Given the description of an element on the screen output the (x, y) to click on. 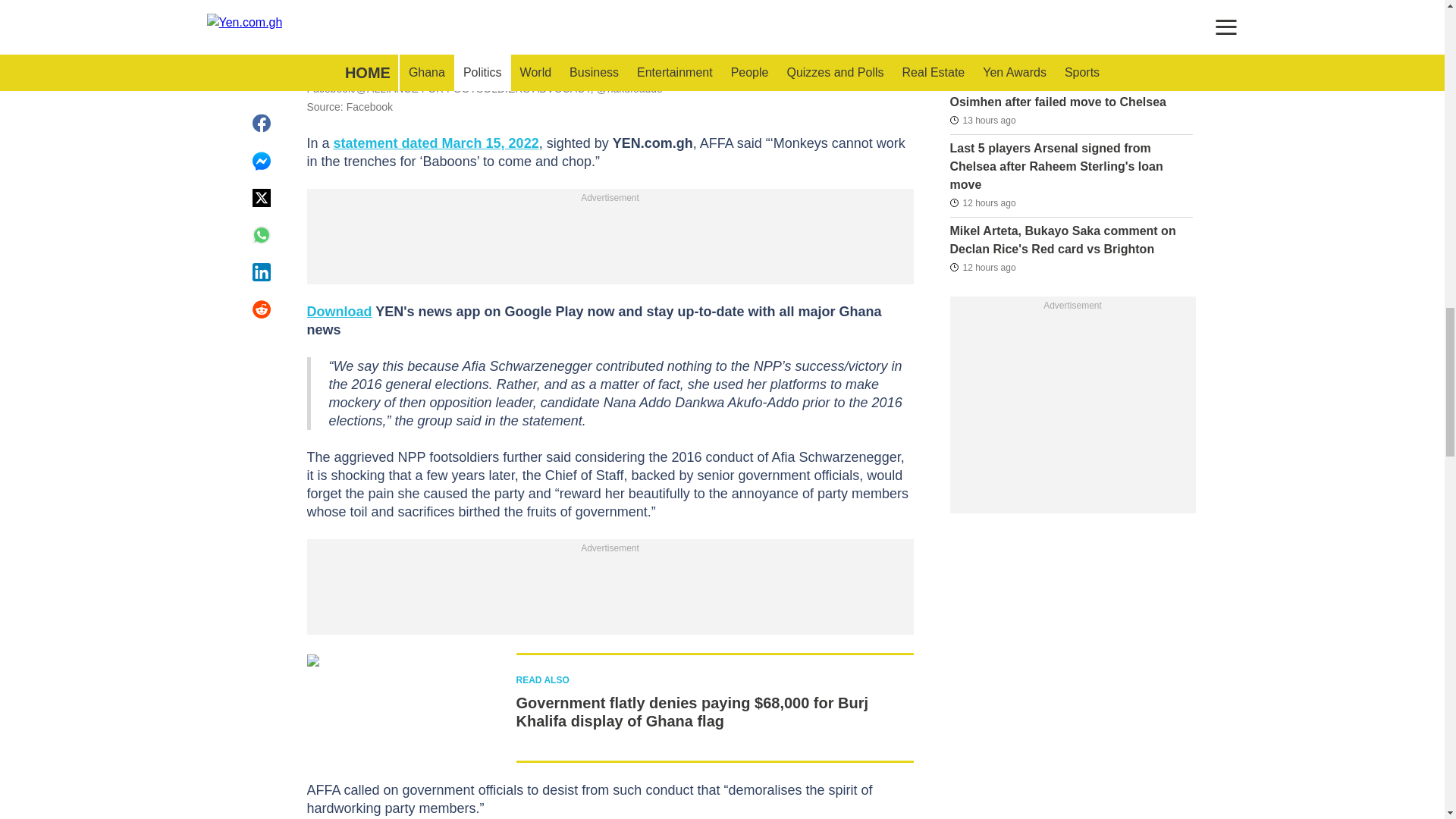
2024-08-31T17:17:23Z (981, 55)
2024-08-31T17:38:06Z (981, 266)
2024-08-31T17:28:15Z (981, 203)
2024-08-31T16:42:23Z (981, 119)
